Given the description of an element on the screen output the (x, y) to click on. 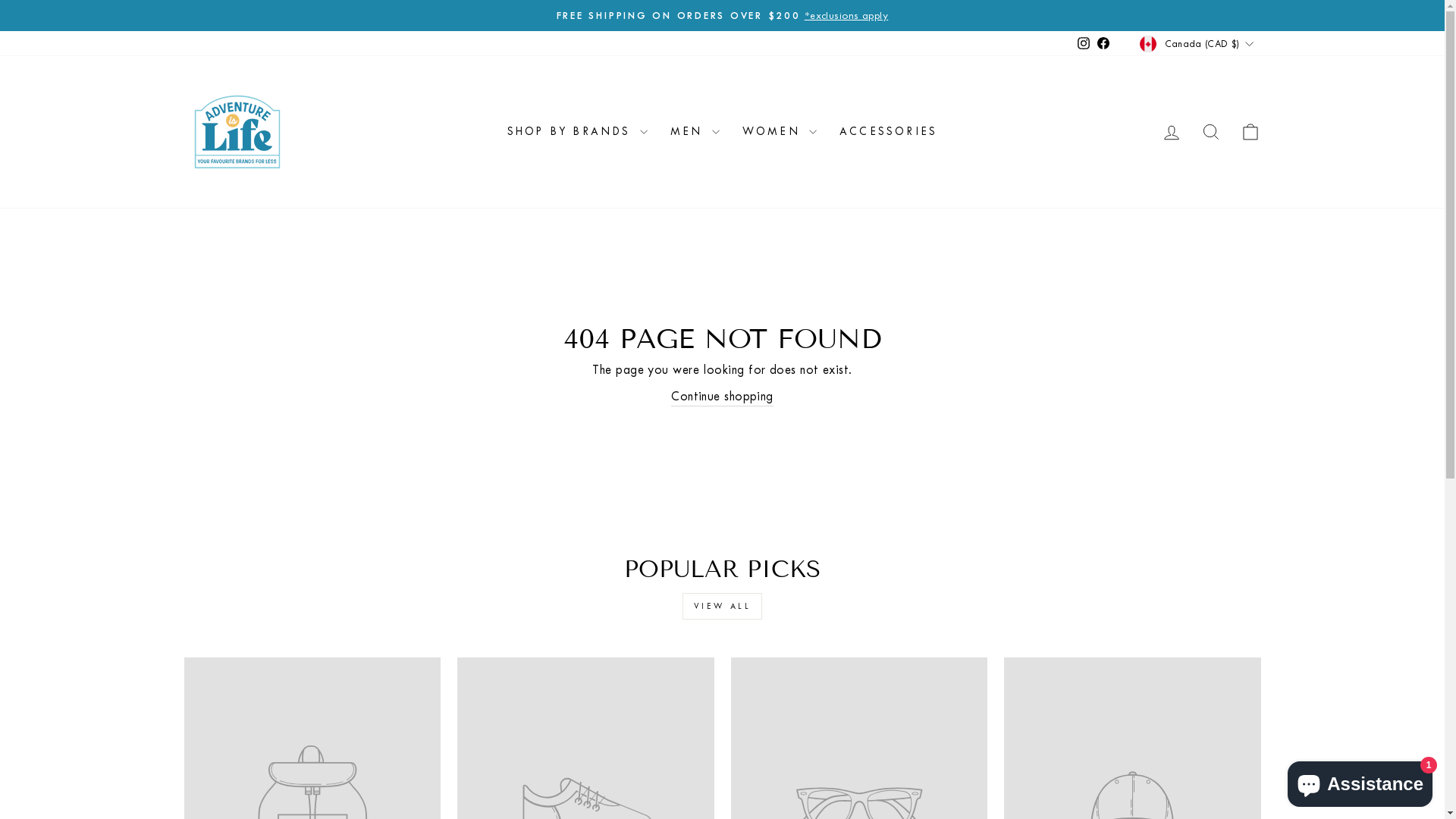
ICON-SEARCH
SEARCH Element type: text (1210, 131)
Canada (CAD $) Element type: text (1197, 43)
VIEW ALL Element type: text (722, 606)
instagram
Instagram Element type: text (1083, 43)
ICON-BAG-MINIMAL
CART Element type: text (1249, 131)
Continue shopping Element type: text (722, 396)
ACCOUNT
LOG IN Element type: text (1170, 131)
ACCESSORIES Element type: text (888, 131)
FREE SHIPPING ON ORDERS OVER $200*exclusions apply Element type: text (722, 15)
Shopify online store chat Element type: hover (1360, 780)
Facebook Element type: text (1103, 43)
